Given the description of an element on the screen output the (x, y) to click on. 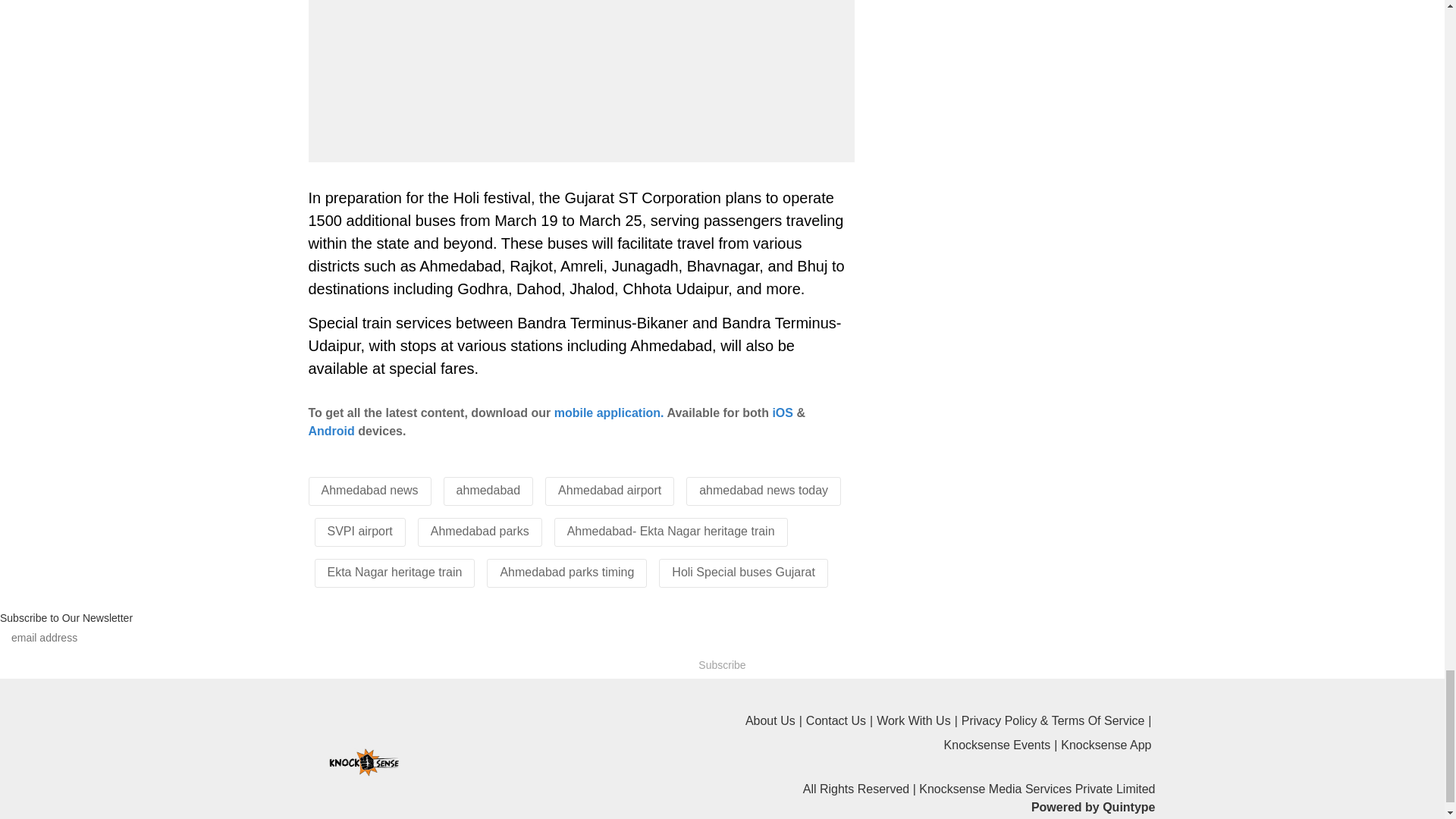
Android (330, 431)
Knocksense Events (1002, 745)
Ahmedabad airport (609, 490)
Ahmedabad- Ekta Nagar heritage train (670, 530)
ahmedabad (489, 490)
ahmedabad news today (763, 490)
Holi Special buses Gujarat (743, 571)
Ahmedabad parks (479, 530)
About Us (775, 721)
mobile application. (608, 412)
